Given the description of an element on the screen output the (x, y) to click on. 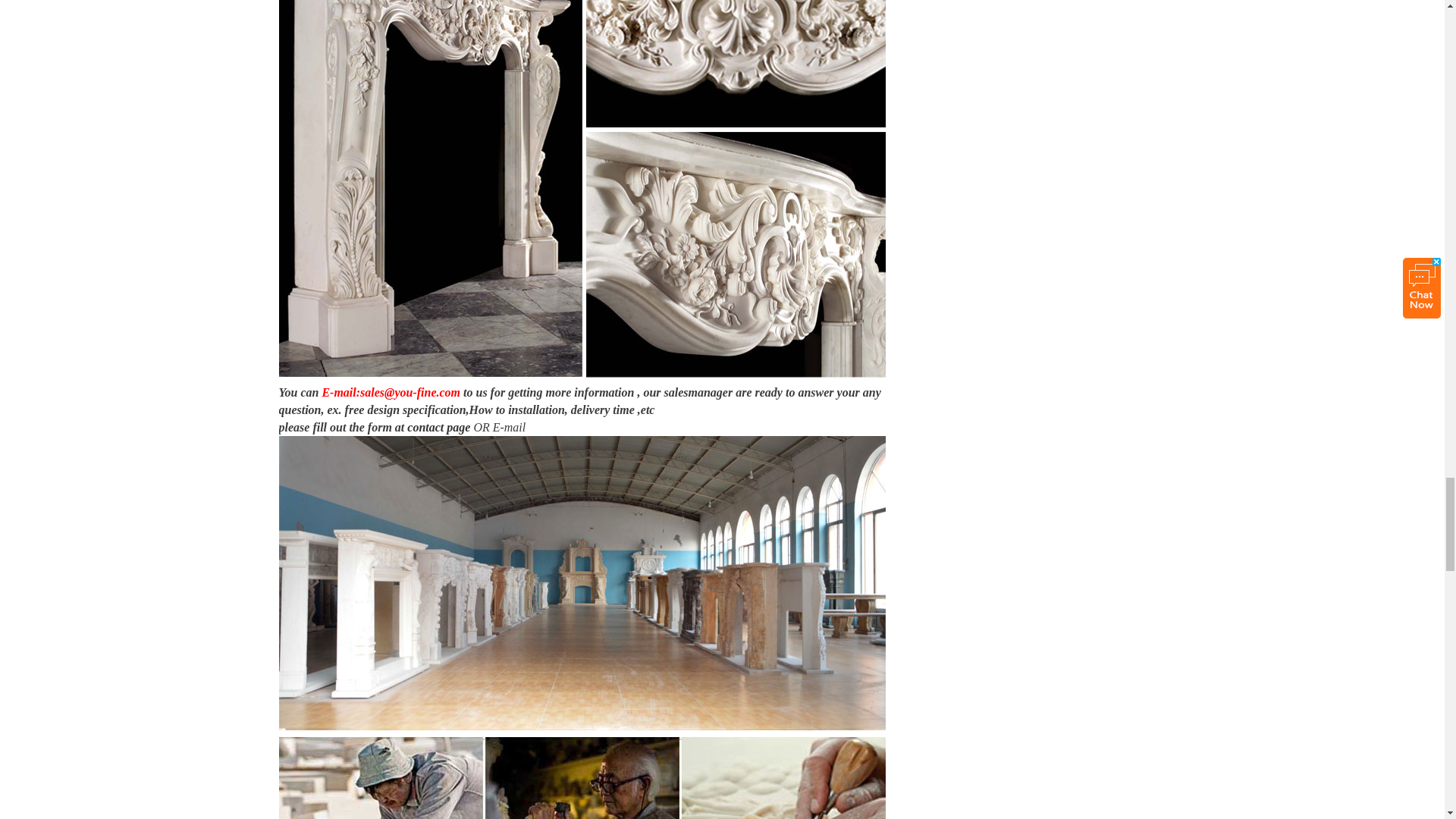
contact page (438, 427)
